Given the description of an element on the screen output the (x, y) to click on. 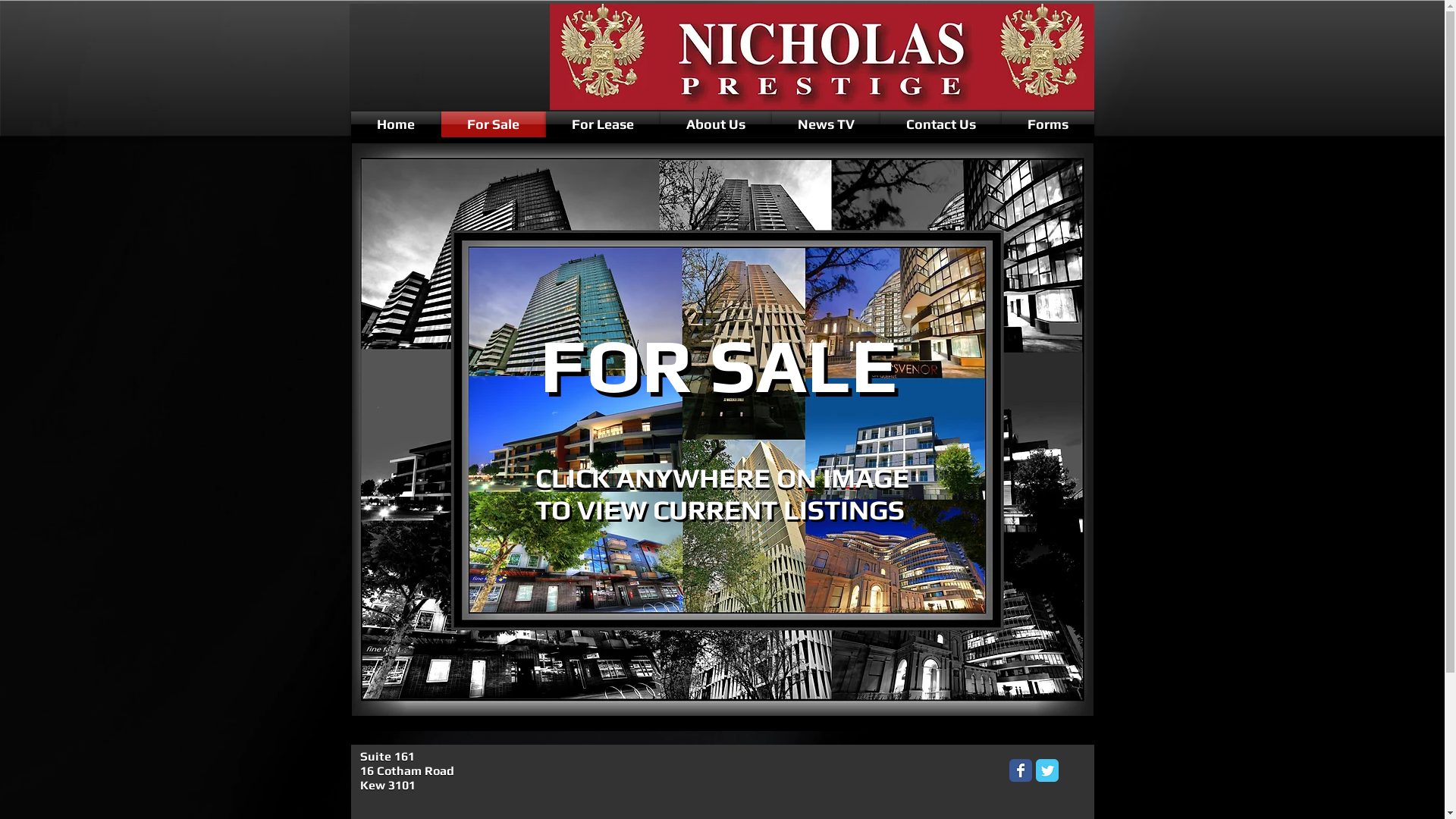
For Sale Element type: text (493, 124)
Home Element type: text (395, 124)
For Lease Element type: text (603, 124)
Forms Element type: text (1047, 124)
News TV Element type: text (825, 124)
Contact Us Element type: text (940, 124)
About Us Element type: text (715, 124)
